Given the description of an element on the screen output the (x, y) to click on. 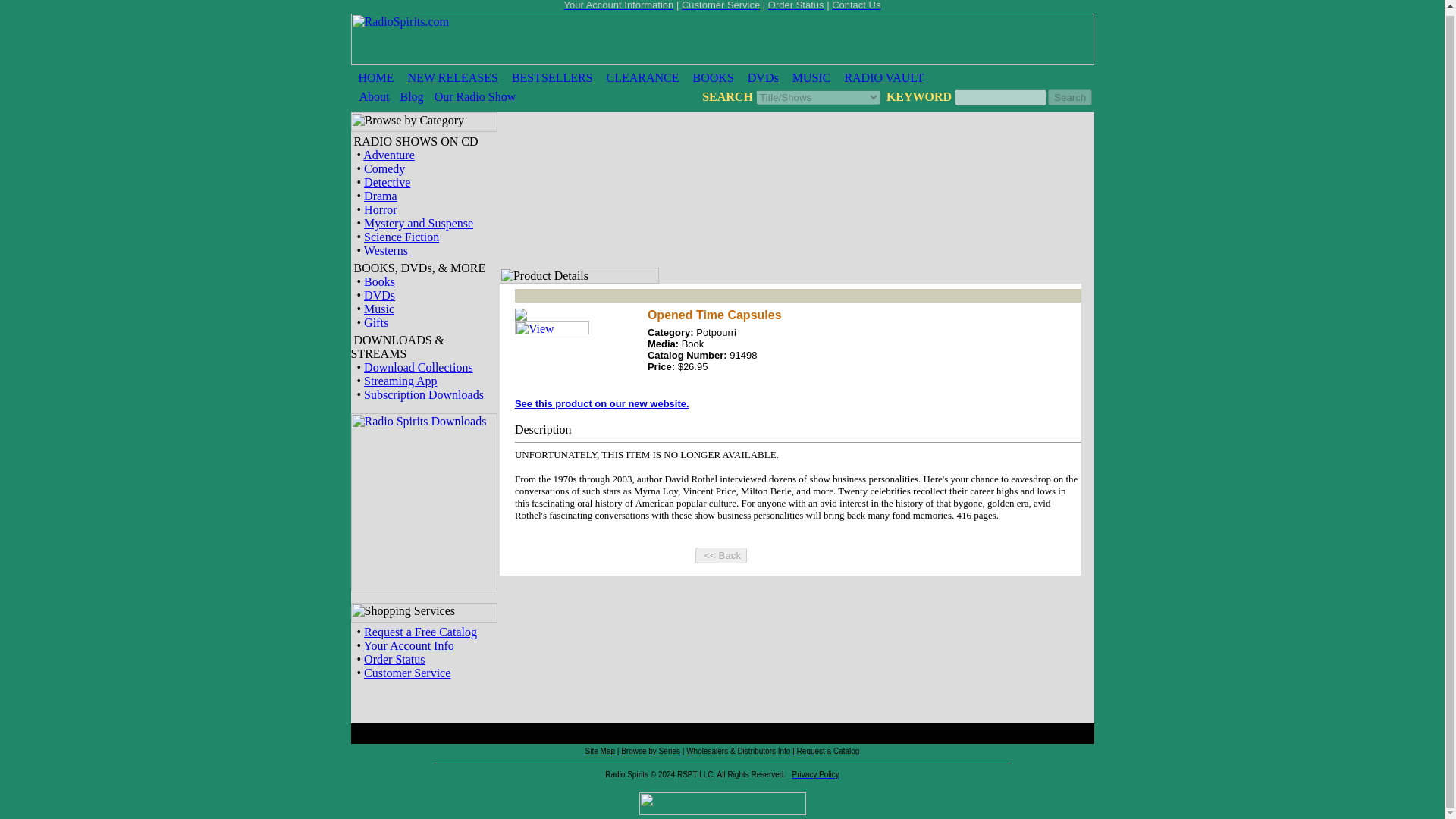
Contact Us (855, 5)
Gifts (376, 322)
Your Account Info (409, 645)
Order Status (796, 5)
BOOKS (713, 77)
About (374, 96)
Search (1070, 97)
Download Collections (418, 367)
Request a Free Catalog (420, 631)
Blog (411, 96)
